Given the description of an element on the screen output the (x, y) to click on. 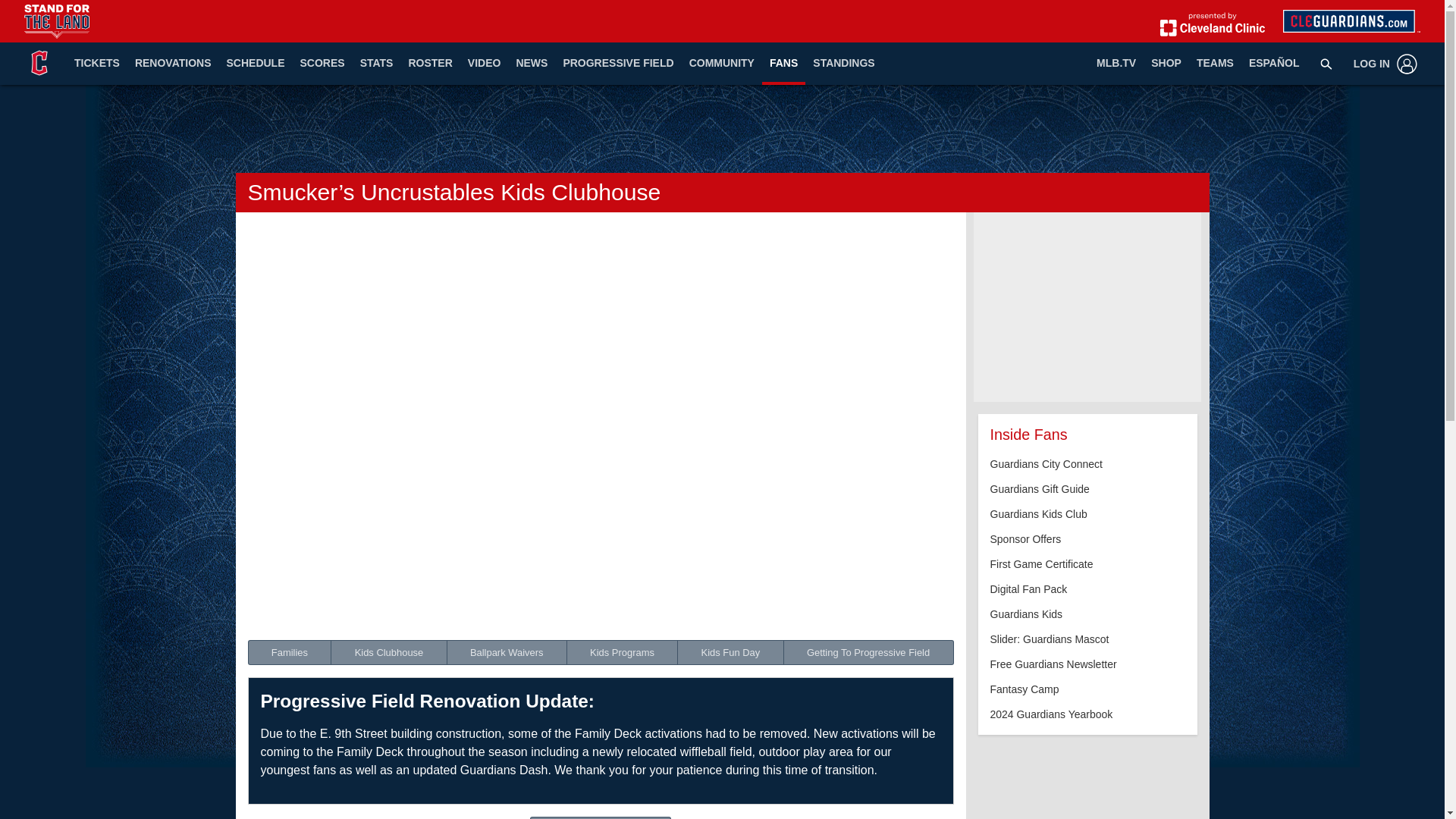
TICKETS (97, 63)
RENOVATIONS (173, 63)
SCORES (322, 63)
STATS (376, 63)
search-95713 (1326, 63)
SCHEDULE (255, 63)
